Given the description of an element on the screen output the (x, y) to click on. 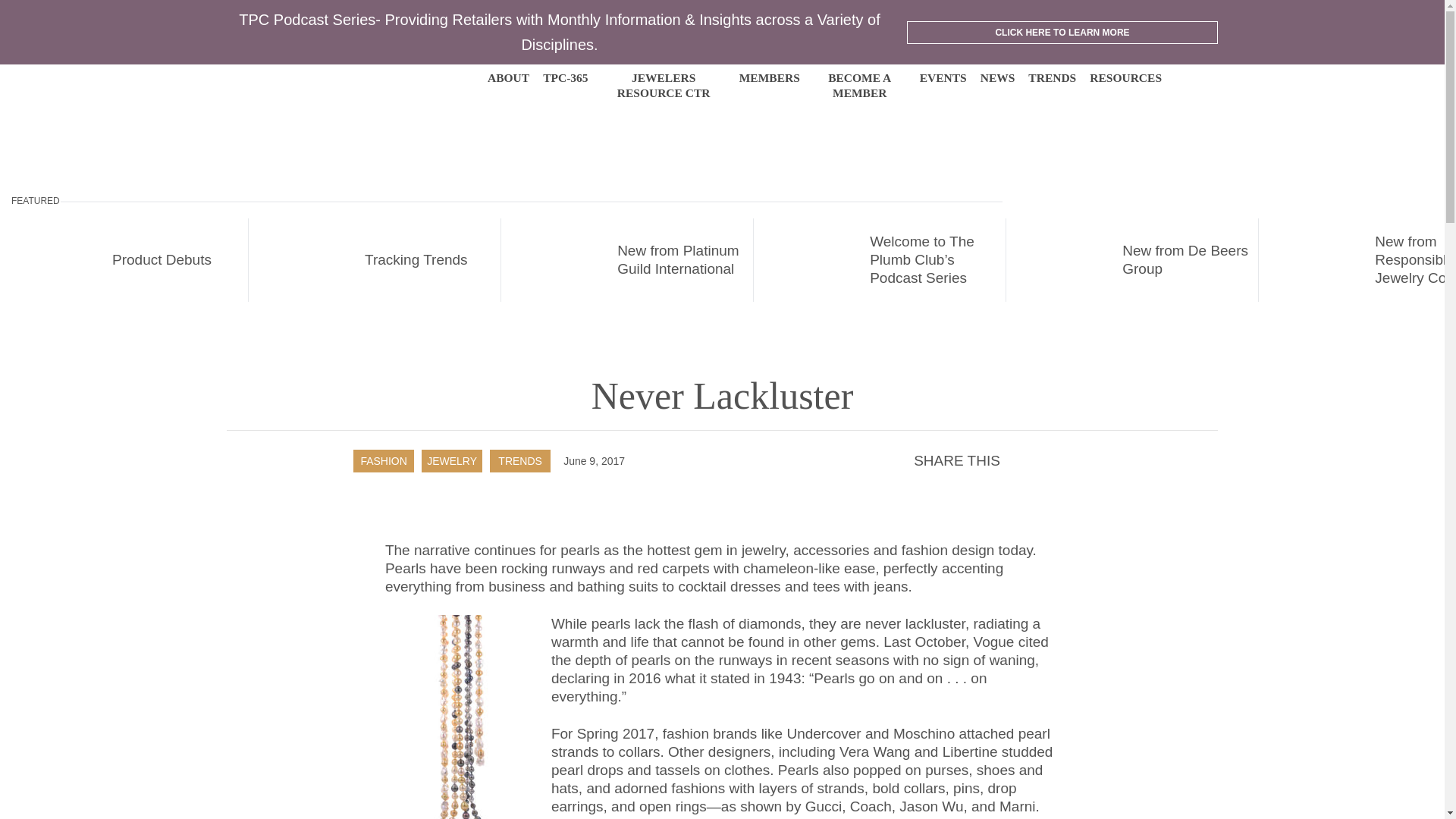
Tracking Trends (374, 260)
New from Platinum Guild International (627, 260)
New from De Beers Group (1132, 260)
ABOUT (508, 77)
NEWS (996, 77)
FASHION (382, 460)
MEMBERS (769, 77)
JEWELERS RESOURCE CTR (663, 85)
TRENDS (519, 460)
BECOME A MEMBER (859, 85)
